Given the description of an element on the screen output the (x, y) to click on. 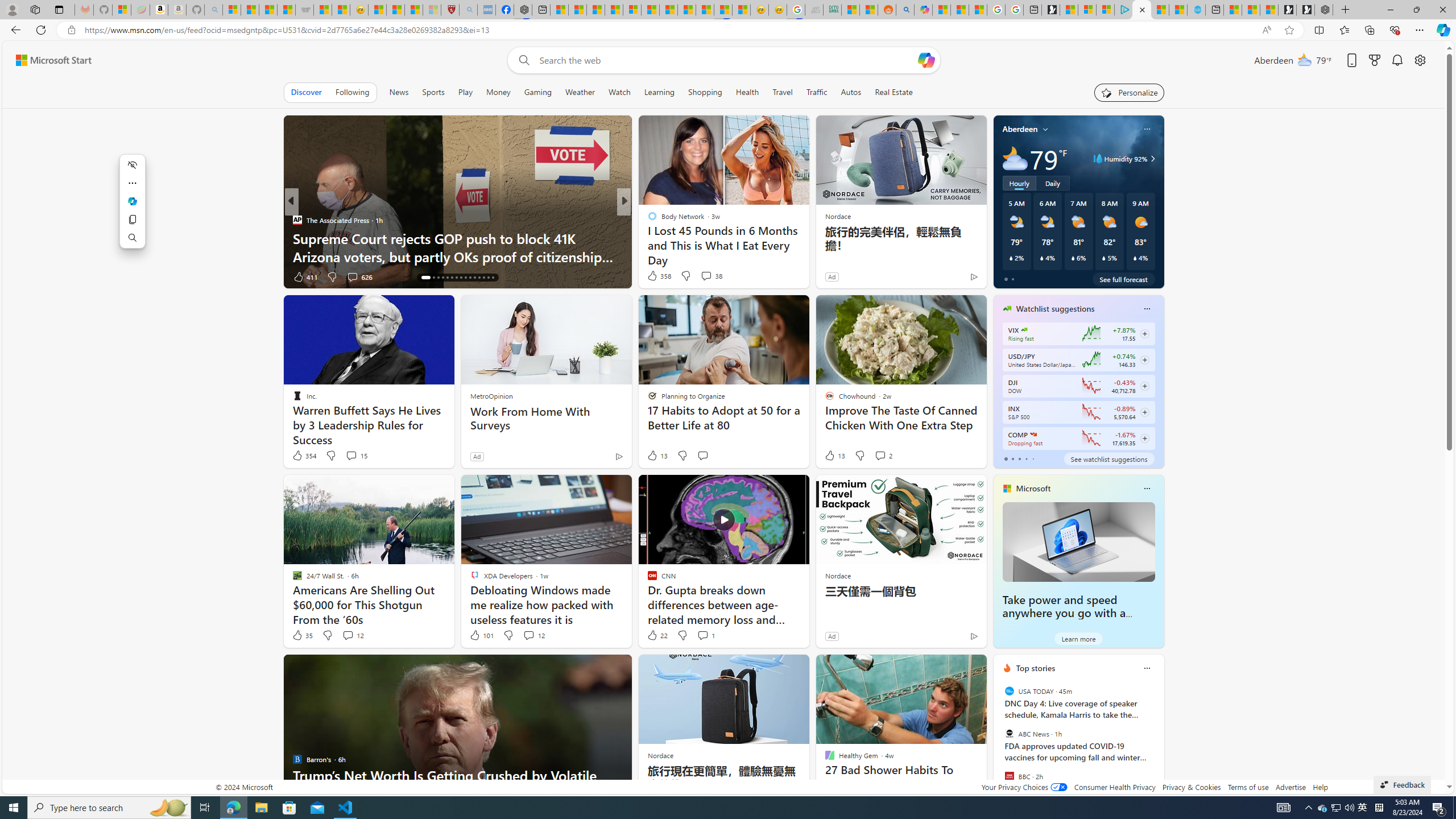
BBC (1008, 775)
The Mirror US (647, 219)
View comments 167 Comment (709, 276)
